Given the description of an element on the screen output the (x, y) to click on. 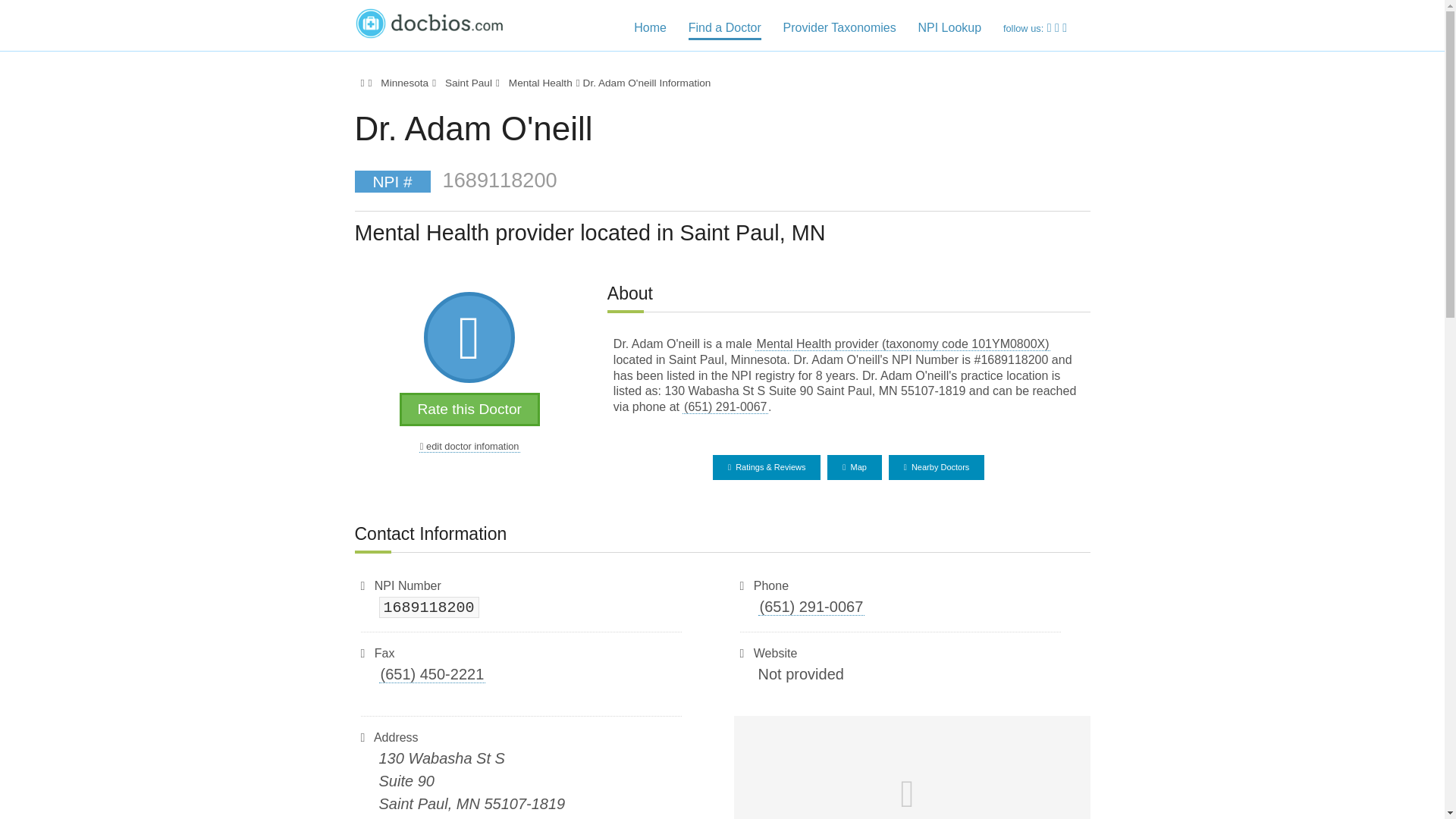
All doctors and healthcare providers in Saint Paul, MN (467, 82)
Phone number for Dr. Adam O'neill (725, 407)
Home (649, 29)
Find a Doctor (724, 30)
Saint Paul (467, 82)
Dr. Adam O'neill's fax number (432, 674)
edit doctor infomation (469, 446)
NPI Lookup (949, 29)
Provider Taxonomies (839, 29)
 Nearby Doctors (936, 467)
DocBios home (361, 82)
Mental Health (539, 82)
See all doctors in Minnesota (403, 82)
DocBios home (434, 21)
Mental Health providers in Saint Paul, MN (539, 82)
